Given the description of an element on the screen output the (x, y) to click on. 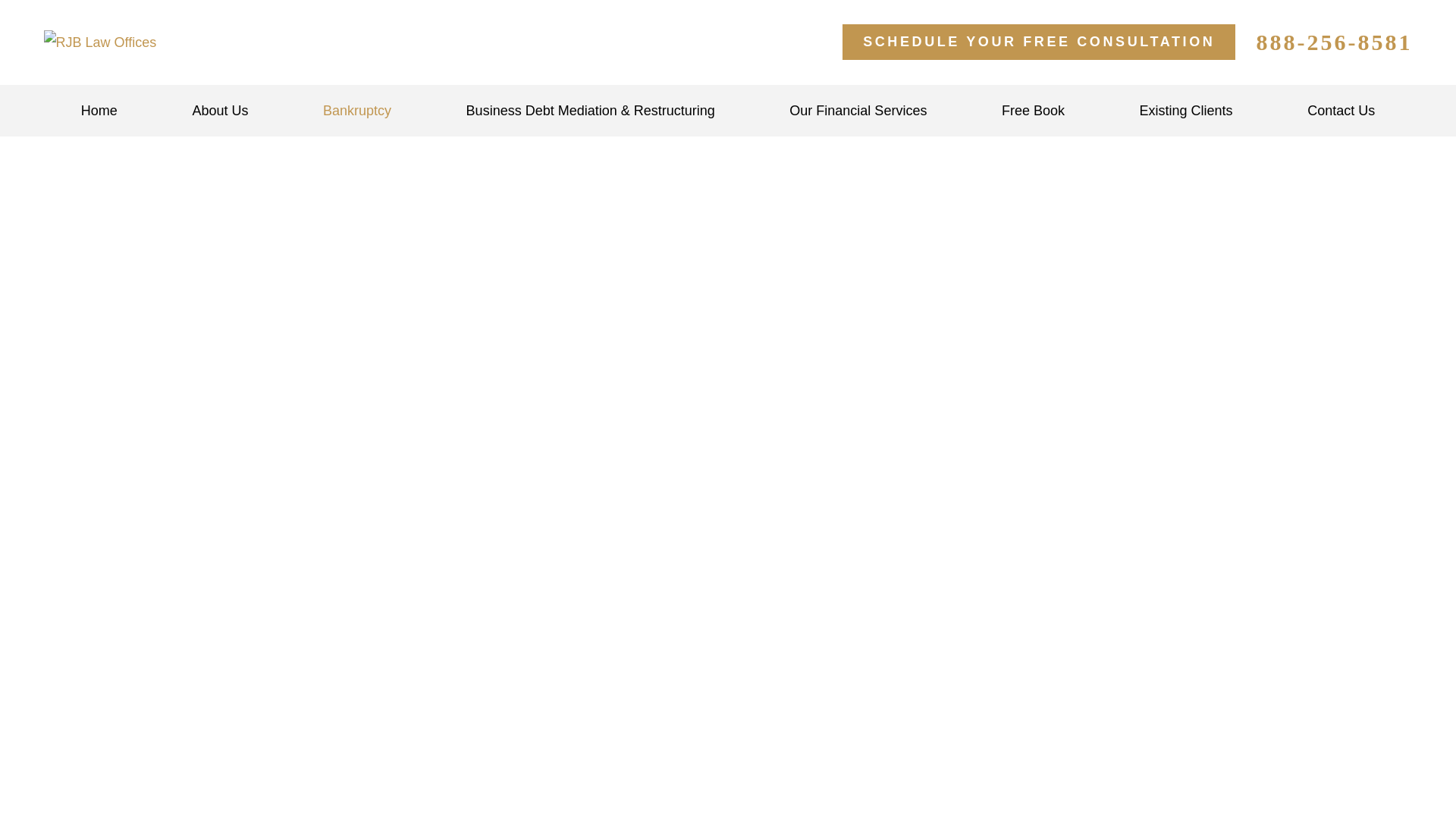
Search Our Site (812, 42)
Bankruptcy (357, 110)
RJB Law Offices (100, 42)
888-256-8581 (1333, 42)
Home (99, 110)
Our Financial Services (857, 110)
SCHEDULE YOUR FREE CONSULTATION (1038, 41)
About Us (219, 110)
